Given the description of an element on the screen output the (x, y) to click on. 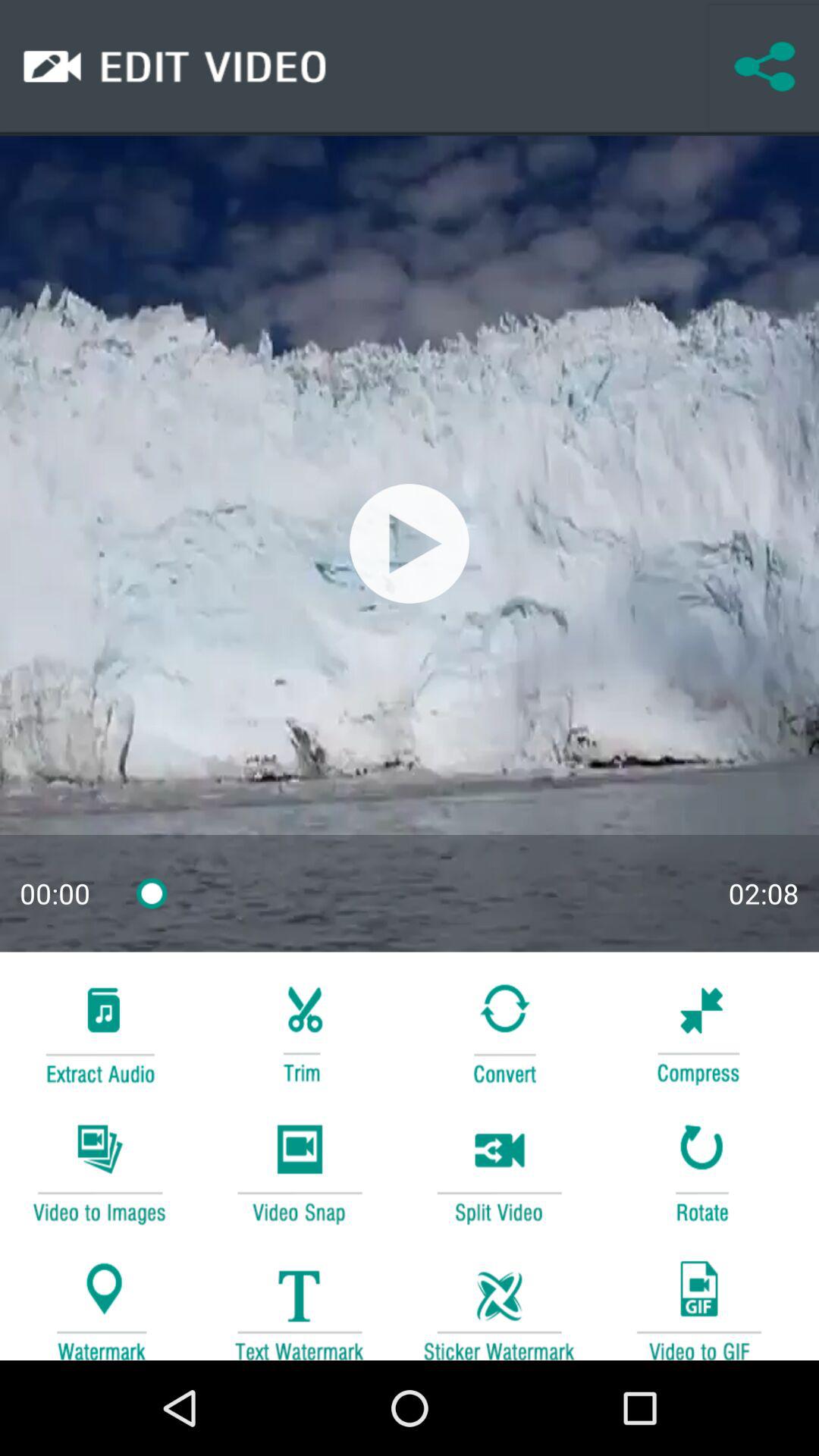
convert video (498, 1032)
